Given the description of an element on the screen output the (x, y) to click on. 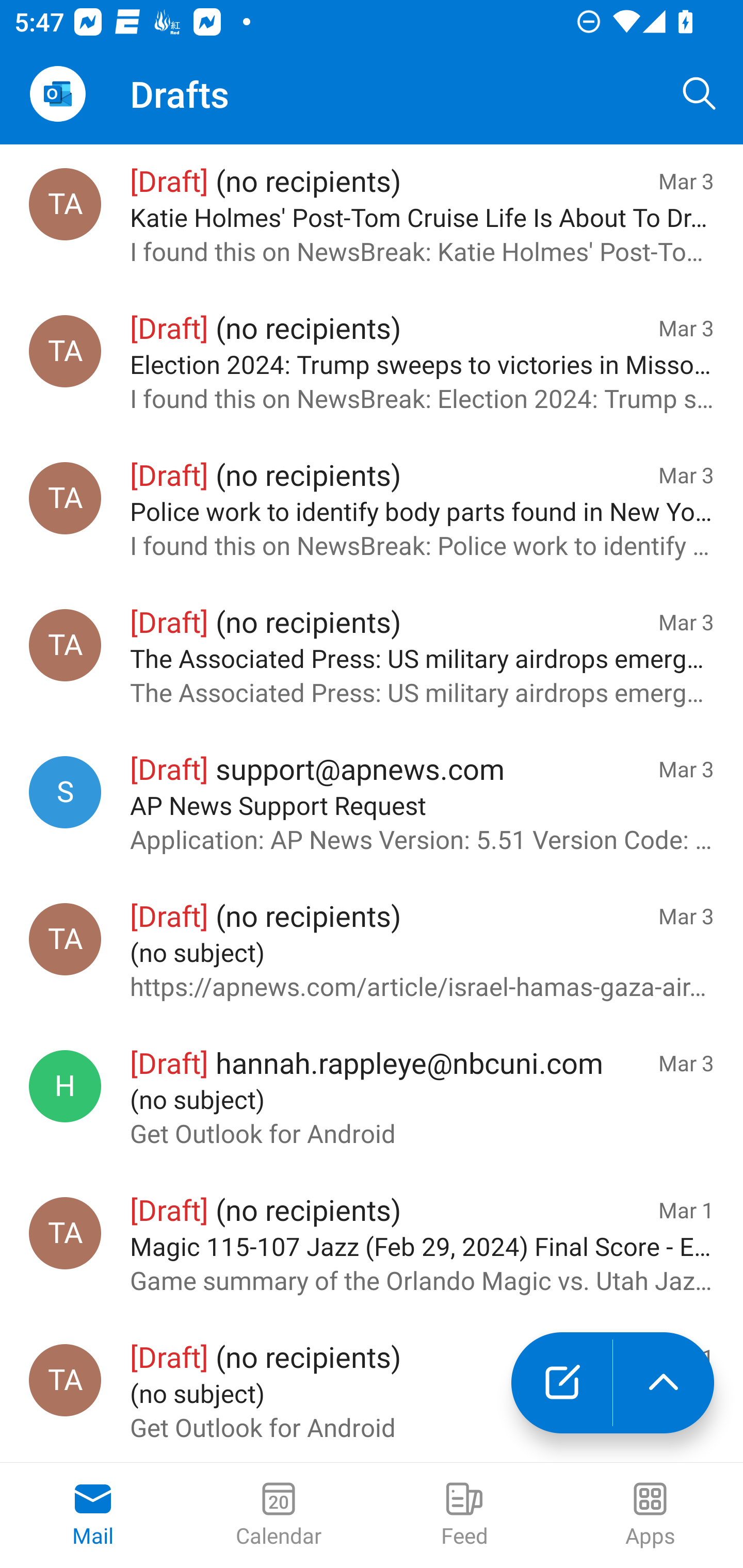
Search, ,  (699, 93)
Open Navigation Drawer (57, 94)
Test Appium, testappium002@outlook.com (64, 203)
Test Appium, testappium002@outlook.com (64, 351)
Test Appium, testappium002@outlook.com (64, 498)
Test Appium, testappium002@outlook.com (64, 645)
support@apnews.com (64, 791)
Test Appium, testappium002@outlook.com (64, 939)
hannah.rappleye@nbcuni.com (64, 1086)
Test Appium, testappium002@outlook.com (64, 1233)
New mail (561, 1382)
launch the extended action menu (663, 1382)
Test Appium, testappium002@outlook.com (64, 1379)
Calendar (278, 1515)
Feed (464, 1515)
Apps (650, 1515)
